Given the description of an element on the screen output the (x, y) to click on. 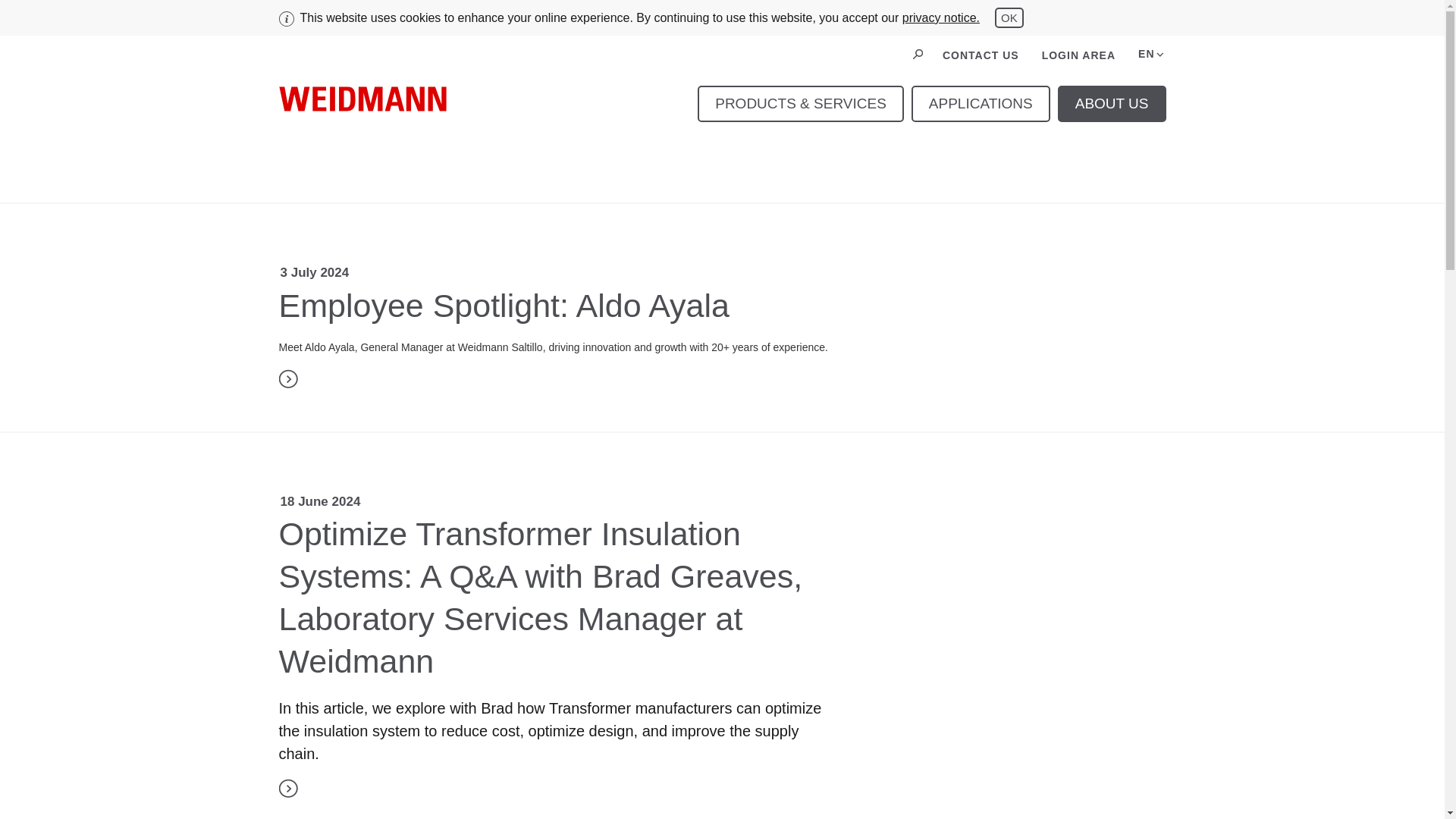
LOGIN AREA (1078, 53)
privacy notice. (1028, 53)
CONTACT US (940, 17)
OK (980, 53)
